Given the description of an element on the screen output the (x, y) to click on. 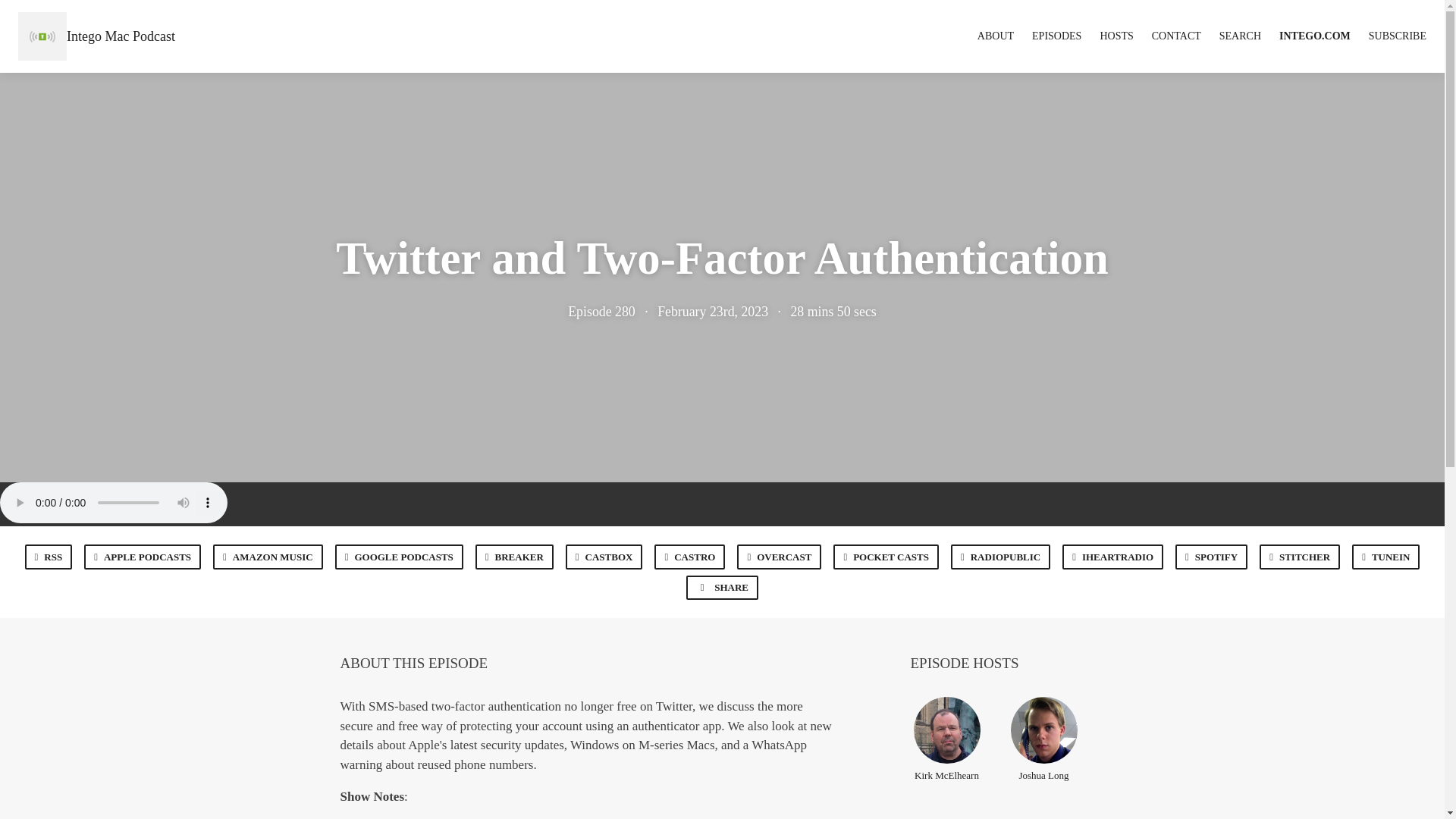
APPLE PODCASTS (142, 556)
RADIOPUBLIC (999, 556)
CASTRO (689, 556)
AMAZON MUSIC (267, 556)
Joshua Long (1043, 739)
ABOUT (994, 35)
POCKET CASTS (885, 556)
SHARE (721, 586)
CASTBOX (604, 556)
SPOTIFY (1210, 556)
RSS (48, 556)
INTEGO.COM (1315, 35)
EPISODES (1056, 35)
STITCHER (1299, 556)
SEARCH (1240, 35)
